Given the description of an element on the screen output the (x, y) to click on. 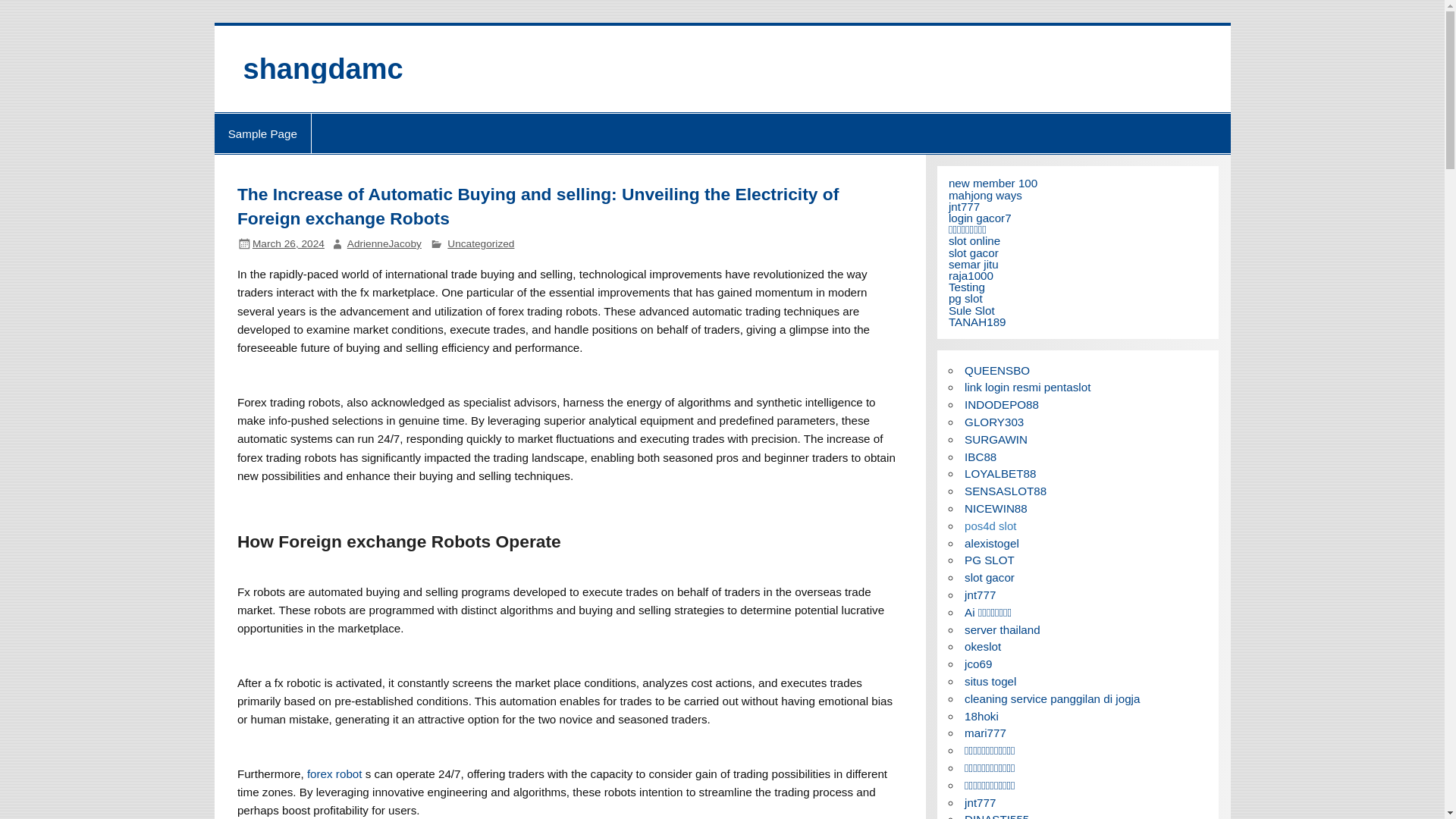
SURGAWIN (995, 439)
Uncategorized (479, 243)
slot gacor (973, 252)
LOYALBET88 (999, 472)
login gacor7 (980, 217)
2:08 pm (287, 243)
slot gacor (988, 576)
AdrienneJacoby (384, 243)
SENSASLOT88 (1004, 490)
slot online (974, 240)
GLORY303 (993, 421)
mahjong ways (985, 195)
link login resmi pentaslot (1026, 386)
Sample Page (262, 133)
